Given the description of an element on the screen output the (x, y) to click on. 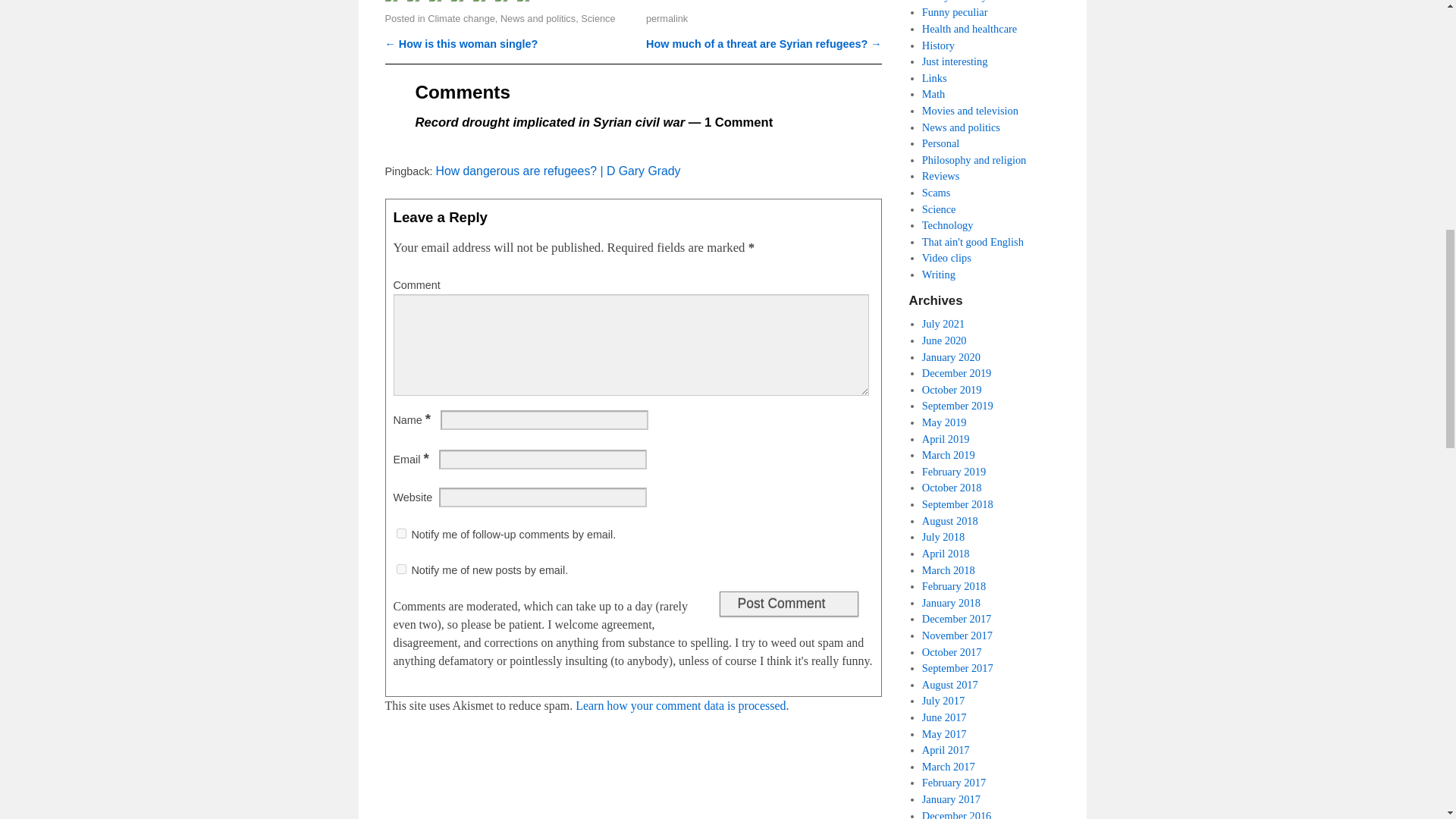
Share on Twitter (415, 3)
Share on Linkedin (482, 3)
Climate change (461, 18)
Pin it with Pinterest (458, 3)
Share on Facebook (394, 3)
permalink (666, 18)
subscribe (401, 569)
Learn how your comment data is processed (680, 705)
subscribe (401, 533)
Post Comment (788, 603)
